Given the description of an element on the screen output the (x, y) to click on. 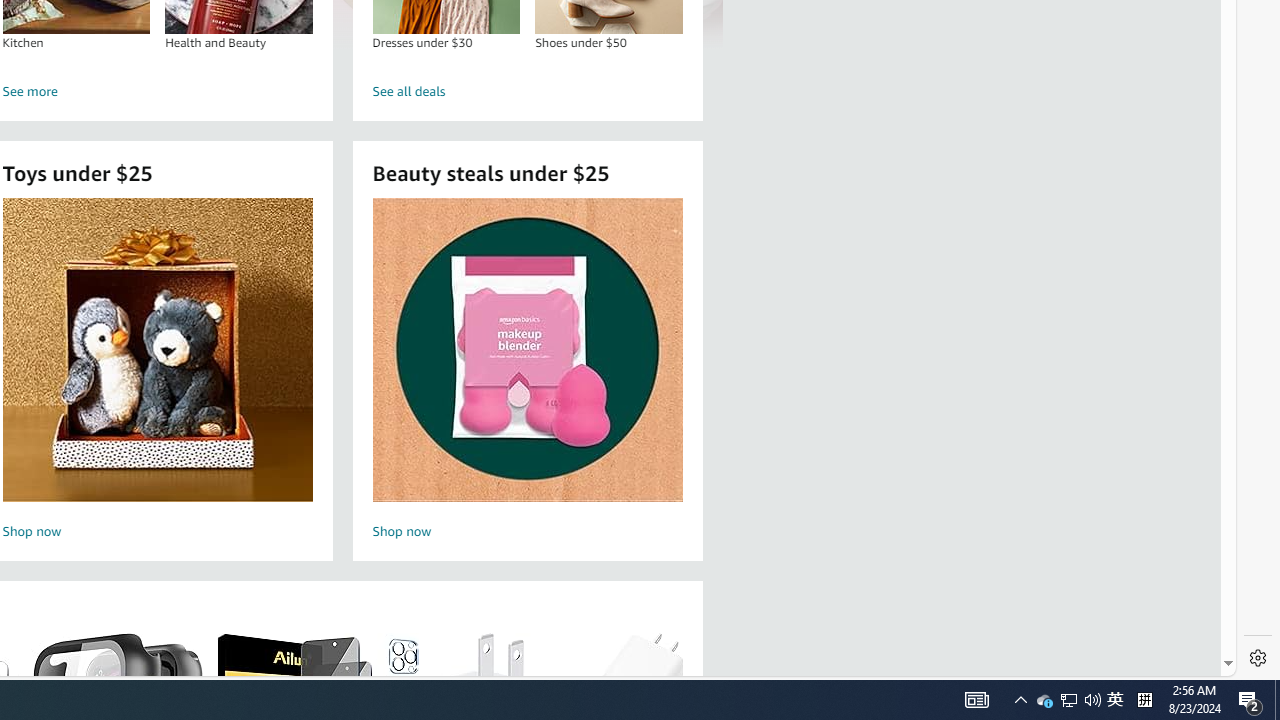
Settings (1258, 658)
See all deals (527, 92)
Beauty steals under $25 Shop now (527, 371)
Beauty steals under $25 (526, 349)
See more (157, 92)
